Given the description of an element on the screen output the (x, y) to click on. 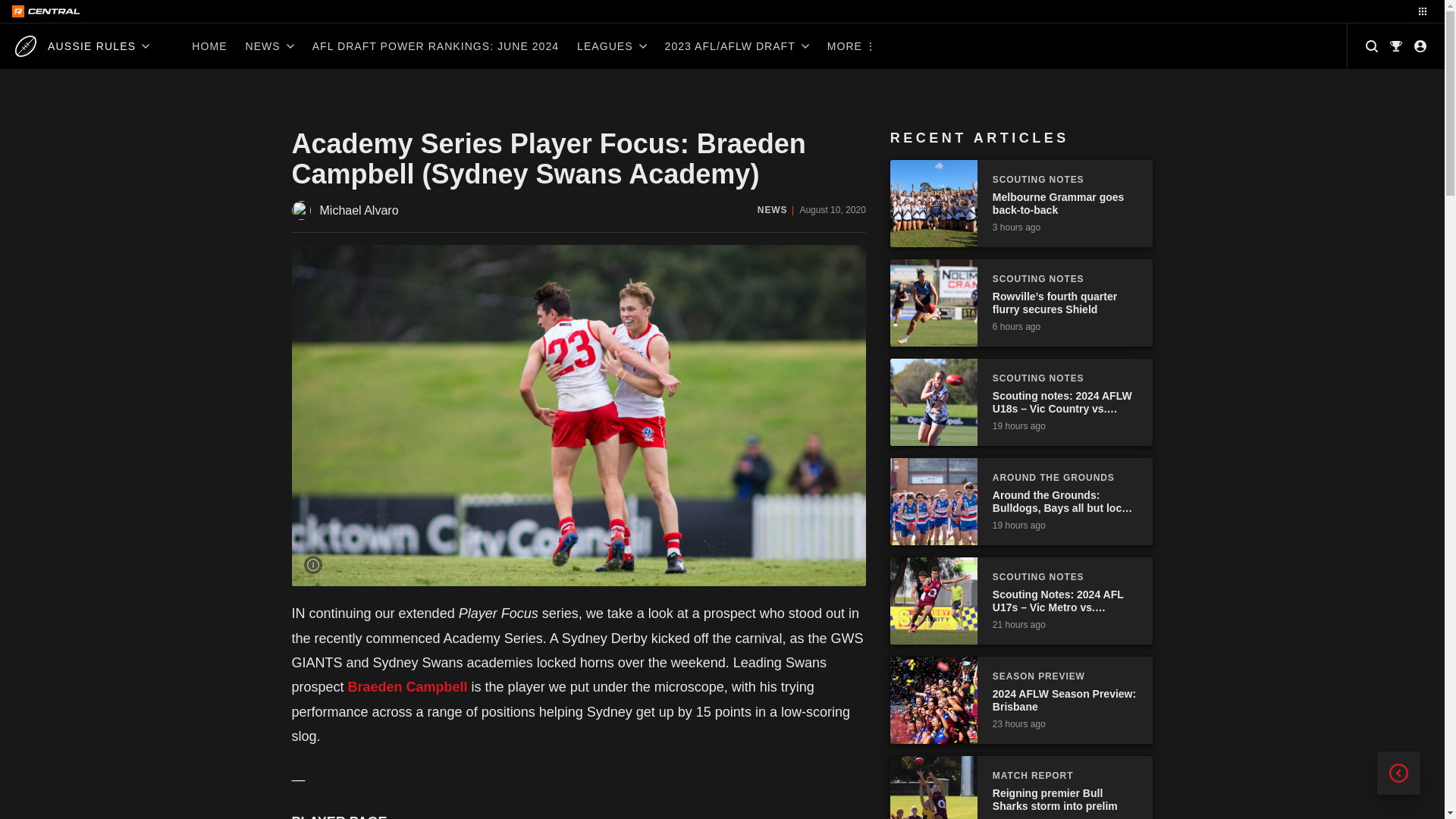
AUSSIE RULES (82, 45)
MORE (850, 46)
Search (1371, 46)
NEWS (268, 46)
LEAGUES (611, 46)
AFL DRAFT POWER RANKINGS: JUNE 2024 (434, 46)
HOME (209, 46)
